Given the description of an element on the screen output the (x, y) to click on. 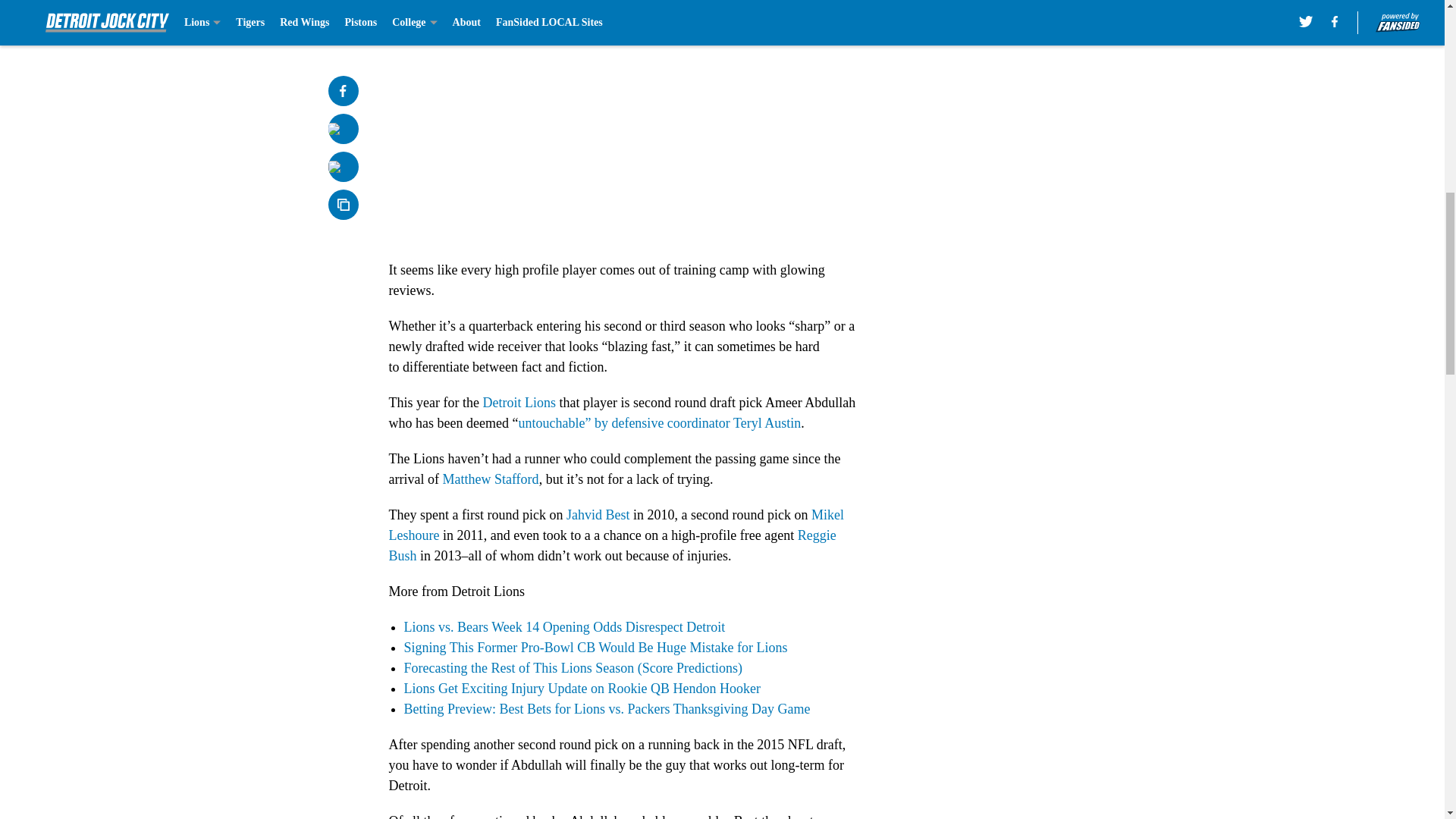
Lions vs. Bears Week 14 Opening Odds Disrespect Detroit (564, 626)
Jahvid Best (598, 514)
Lions Get Exciting Injury Update on Rookie QB Hendon Hooker (581, 688)
Matthew Stafford (490, 478)
Detroit Lions (518, 402)
Mikel Leshoure (615, 524)
Reggie Bush (611, 545)
